Given the description of an element on the screen output the (x, y) to click on. 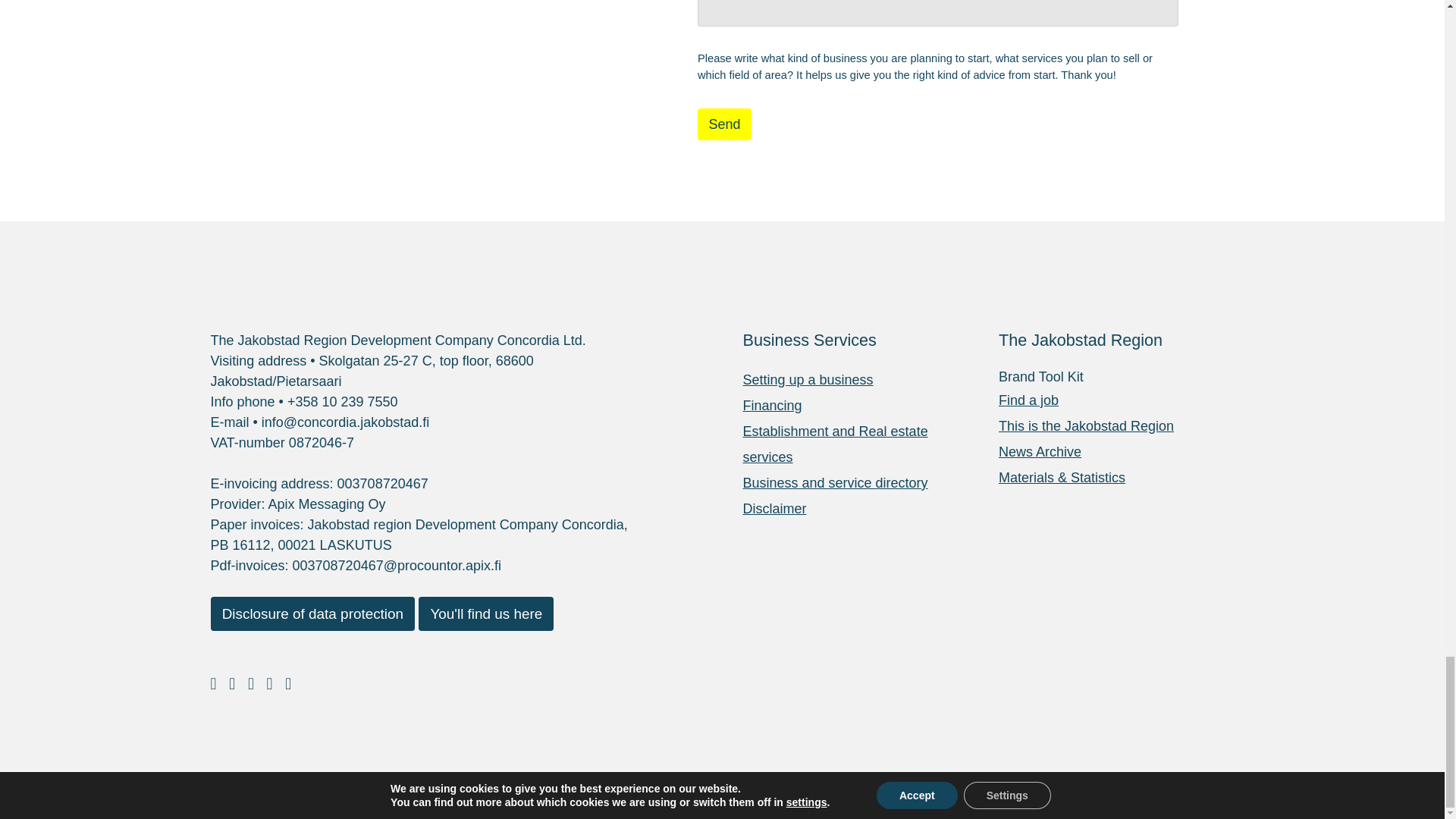
Send (724, 124)
